Given the description of an element on the screen output the (x, y) to click on. 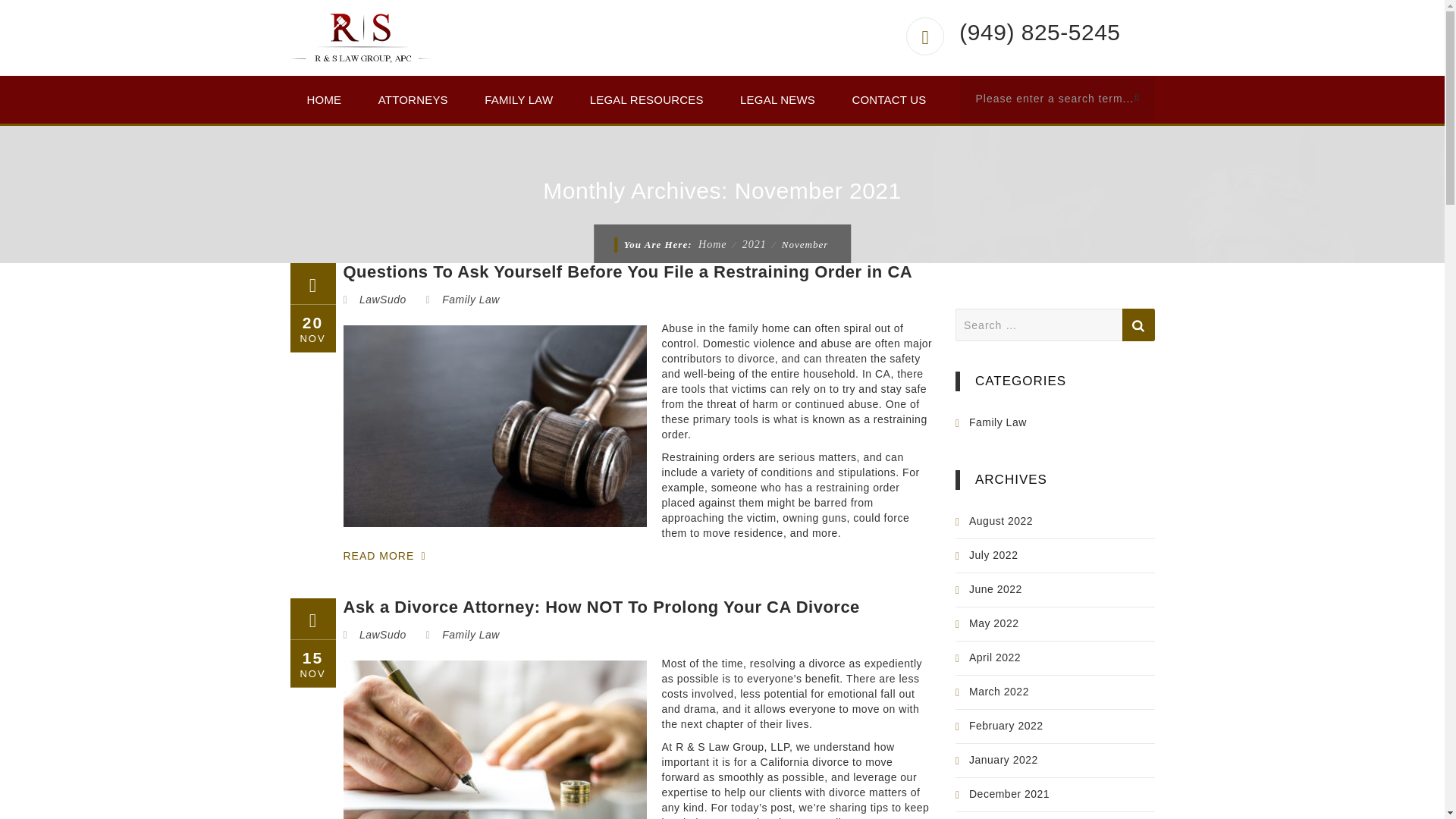
HOME (323, 99)
ATTORNEYS (412, 99)
CONTACT US (888, 99)
READ MORE (393, 556)
Home (712, 244)
Family Law (470, 634)
Family Law (470, 299)
LEGAL RESOURCES (646, 99)
View all posts by LawSudo (382, 299)
LawSudo (382, 299)
